Given the description of an element on the screen output the (x, y) to click on. 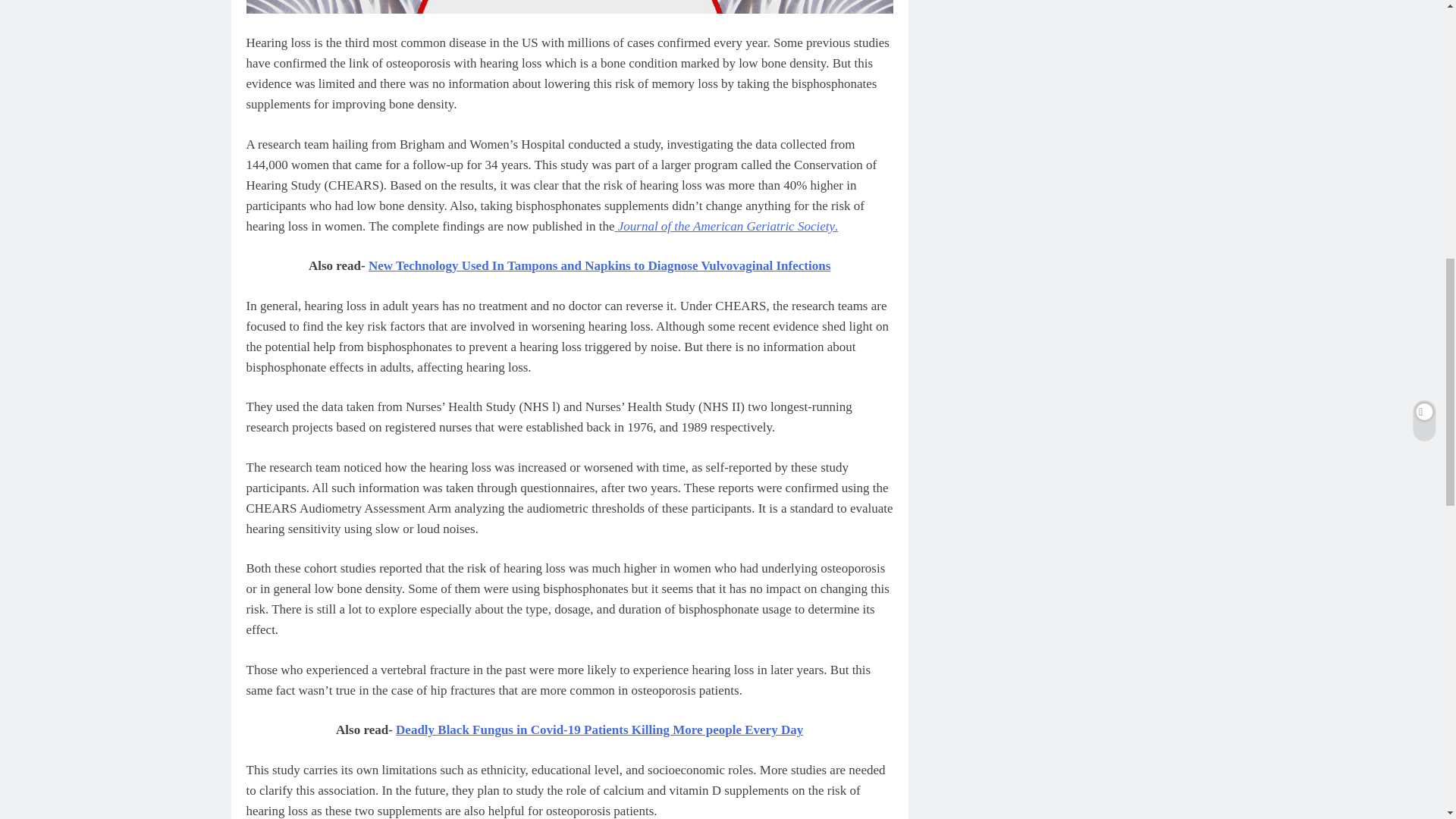
Journal of the American Geriatric Society. (726, 226)
